Given the description of an element on the screen output the (x, y) to click on. 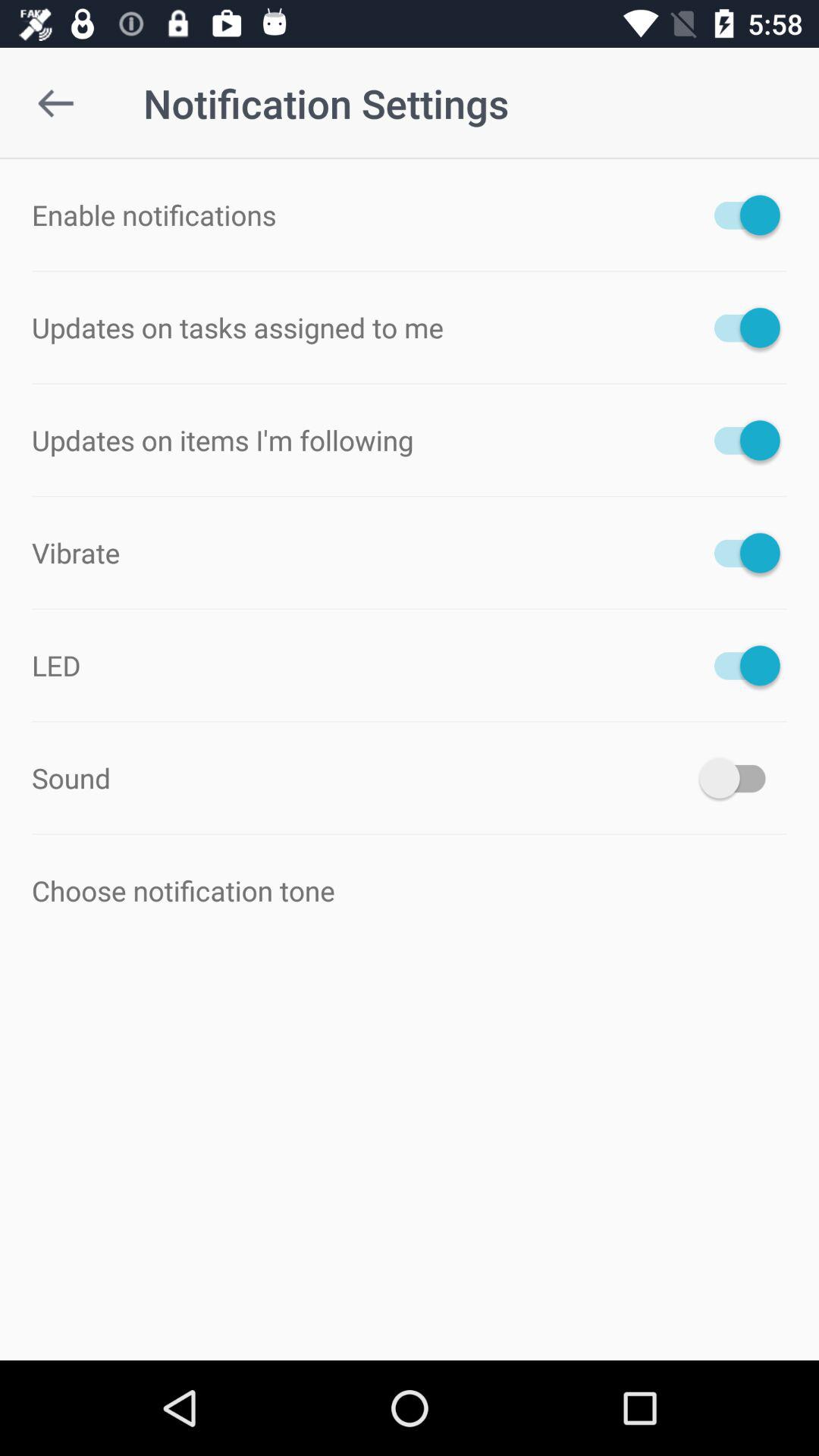
launch the item to the left of the notification settings icon (55, 103)
